Given the description of an element on the screen output the (x, y) to click on. 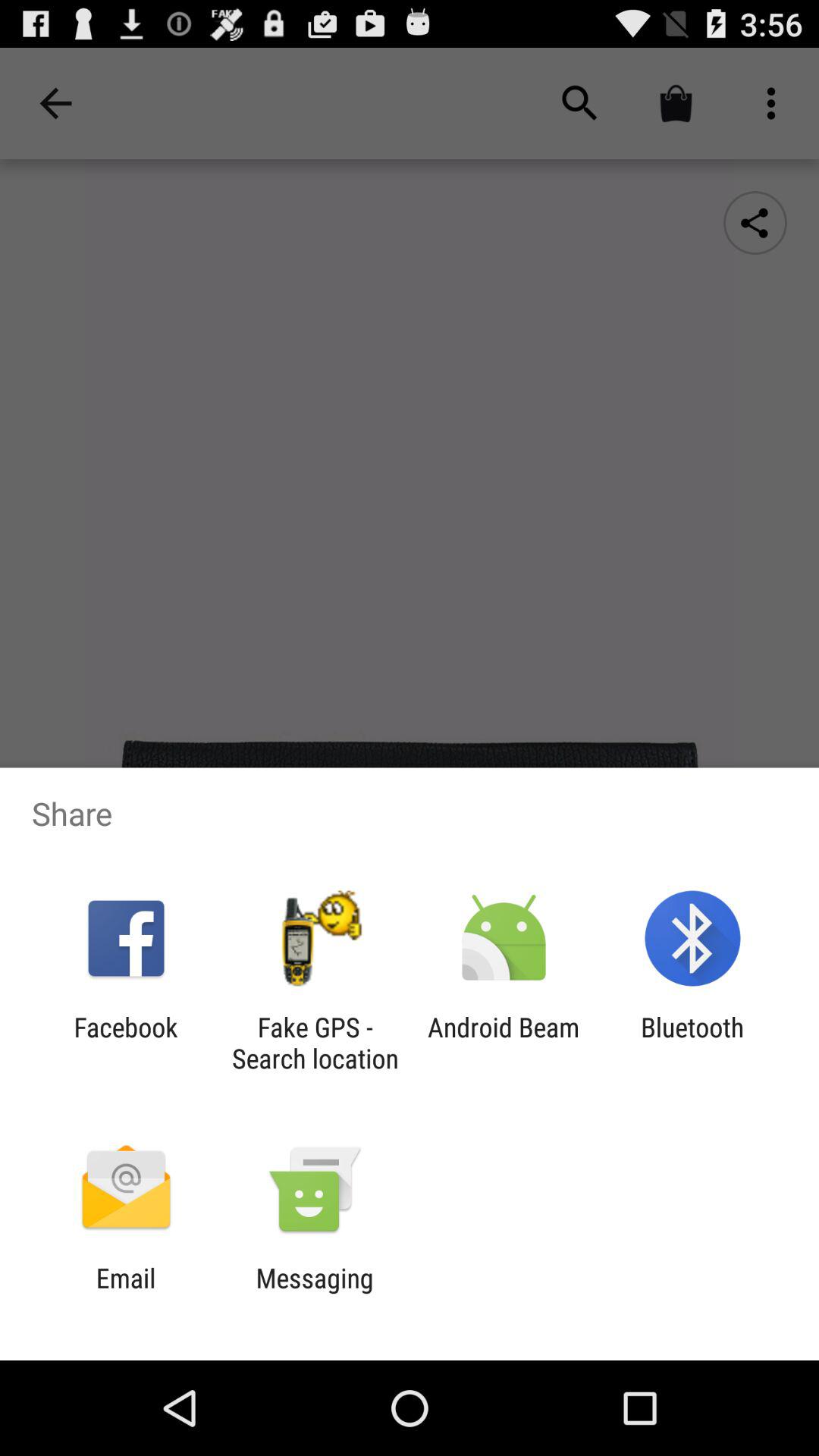
select the item at the bottom right corner (691, 1042)
